Given the description of an element on the screen output the (x, y) to click on. 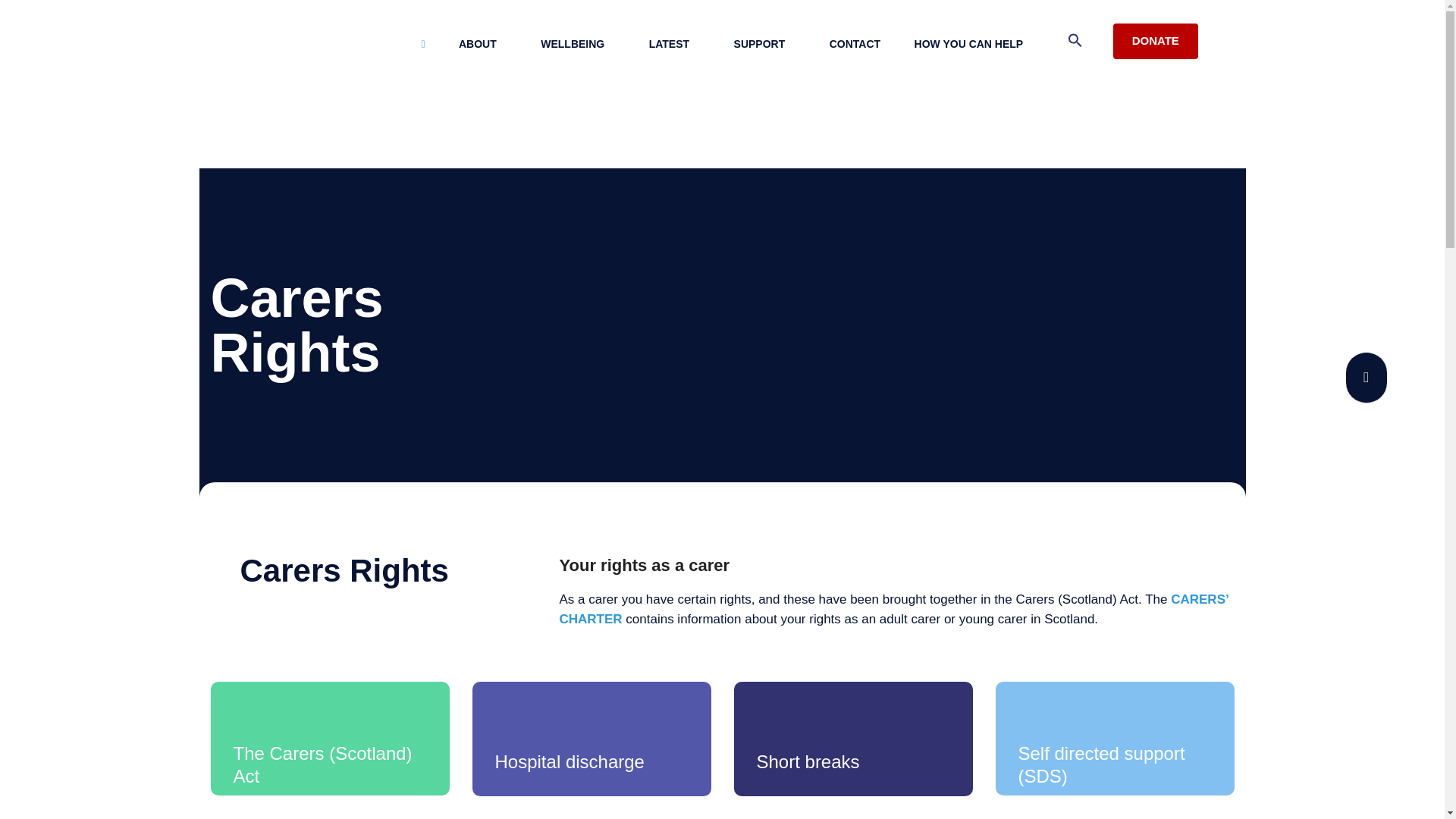
WELLBEING (577, 44)
SUPPORT (764, 44)
CONTACT (854, 44)
LATEST (673, 44)
HOW YOU CAN HELP (974, 44)
DONATE (1155, 40)
ABOUT (483, 44)
